Given the description of an element on the screen output the (x, y) to click on. 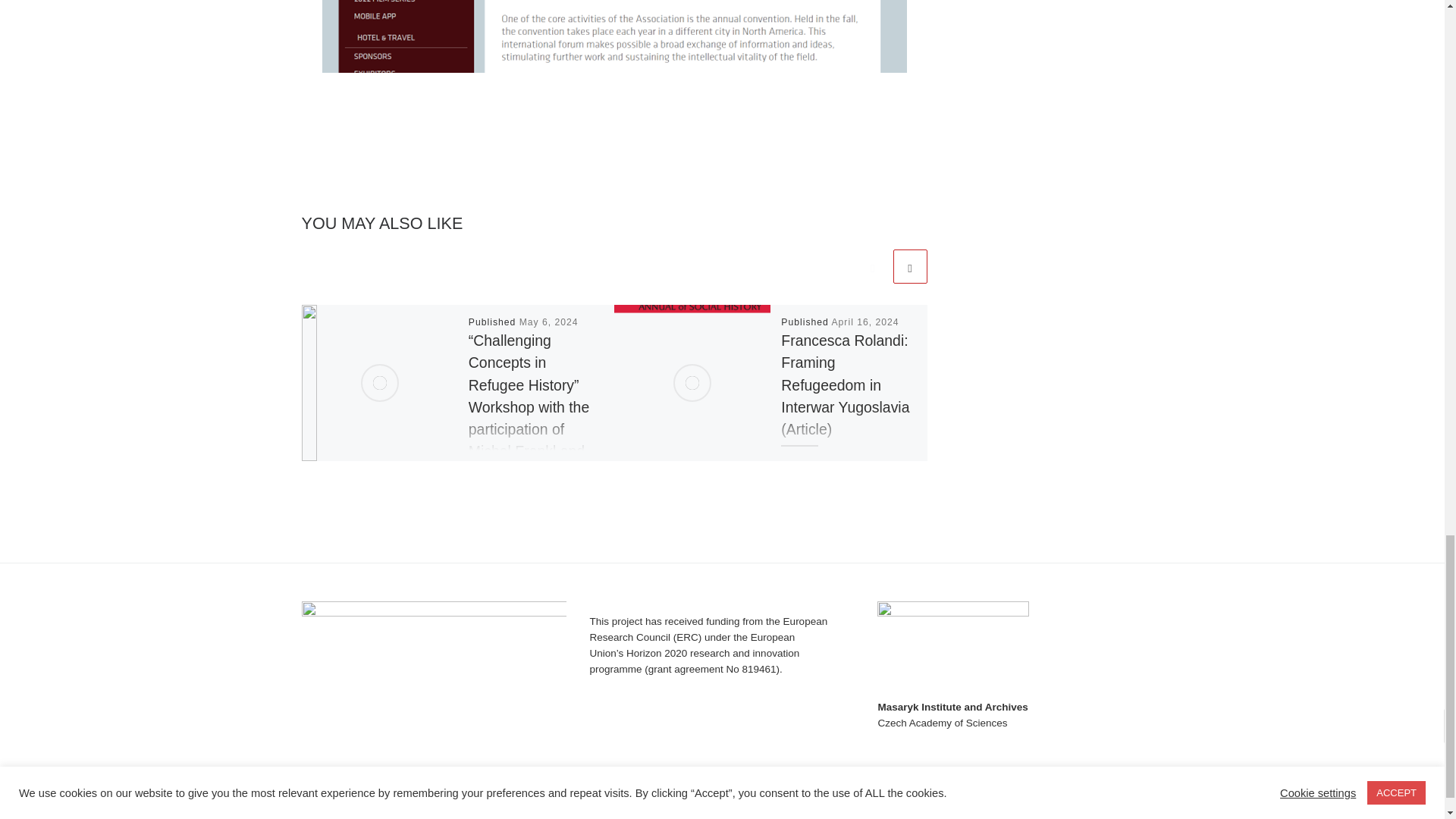
Previous related articles (872, 266)
Next related articles (910, 266)
Unlikely Refuge? (385, 800)
